Given the description of an element on the screen output the (x, y) to click on. 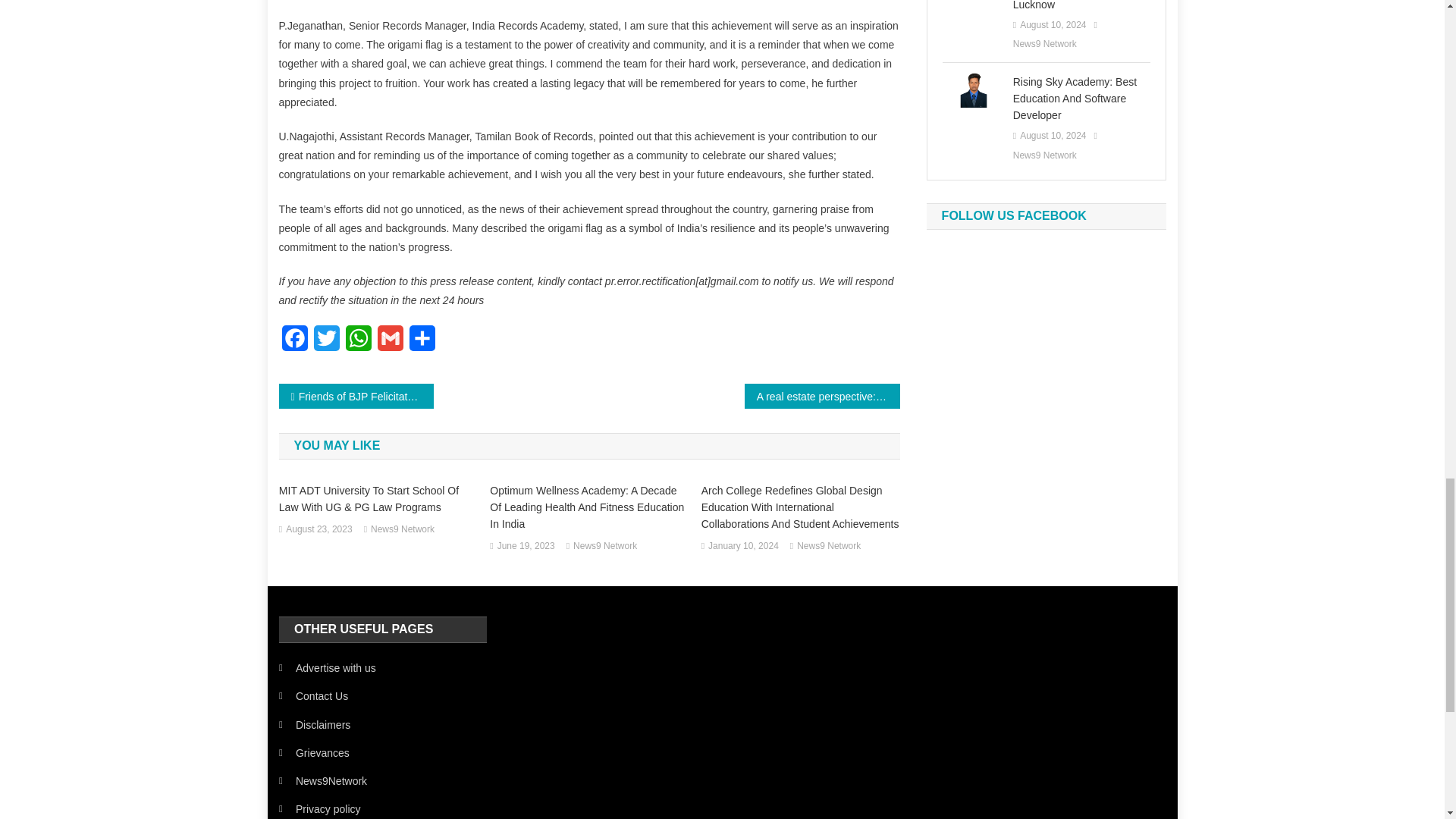
WhatsApp (358, 342)
Twitter (326, 342)
Rising Sky Academy: Best Education and Software developer (973, 89)
Facebook (295, 342)
Gmail (390, 342)
